Given the description of an element on the screen output the (x, y) to click on. 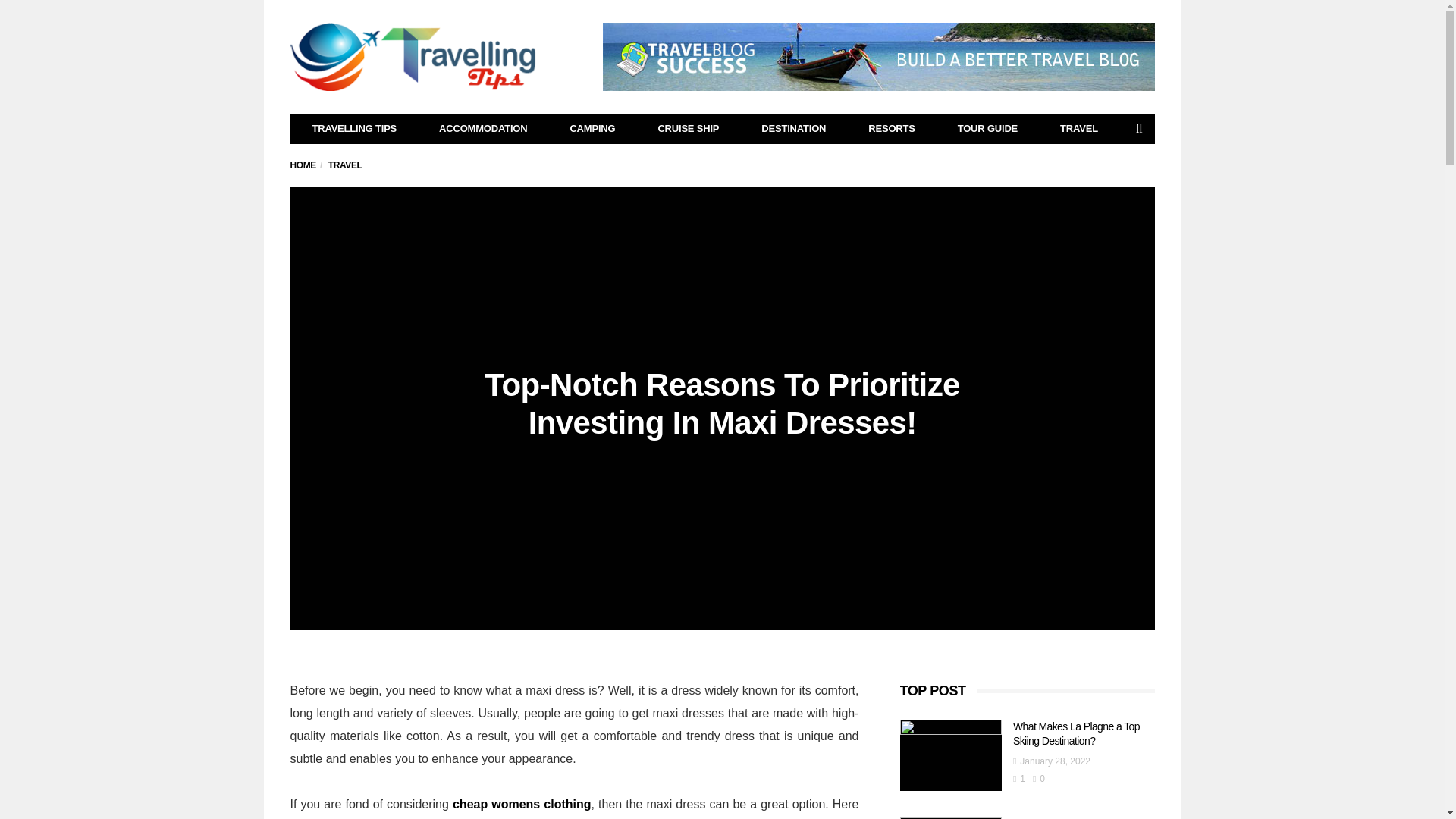
DESTINATION (793, 128)
TRAVEL (345, 164)
TRAVEL (1079, 128)
Why should you take a food tour to Italy? (950, 818)
What Makes La Plagne a Top Skiing Destination? (950, 755)
TRAVELLING TIPS (355, 128)
What Makes La Plagne a Top Skiing Destination? (1076, 733)
ACCOMMODATION (482, 128)
cheap womens clothing (521, 803)
